Given the description of an element on the screen output the (x, y) to click on. 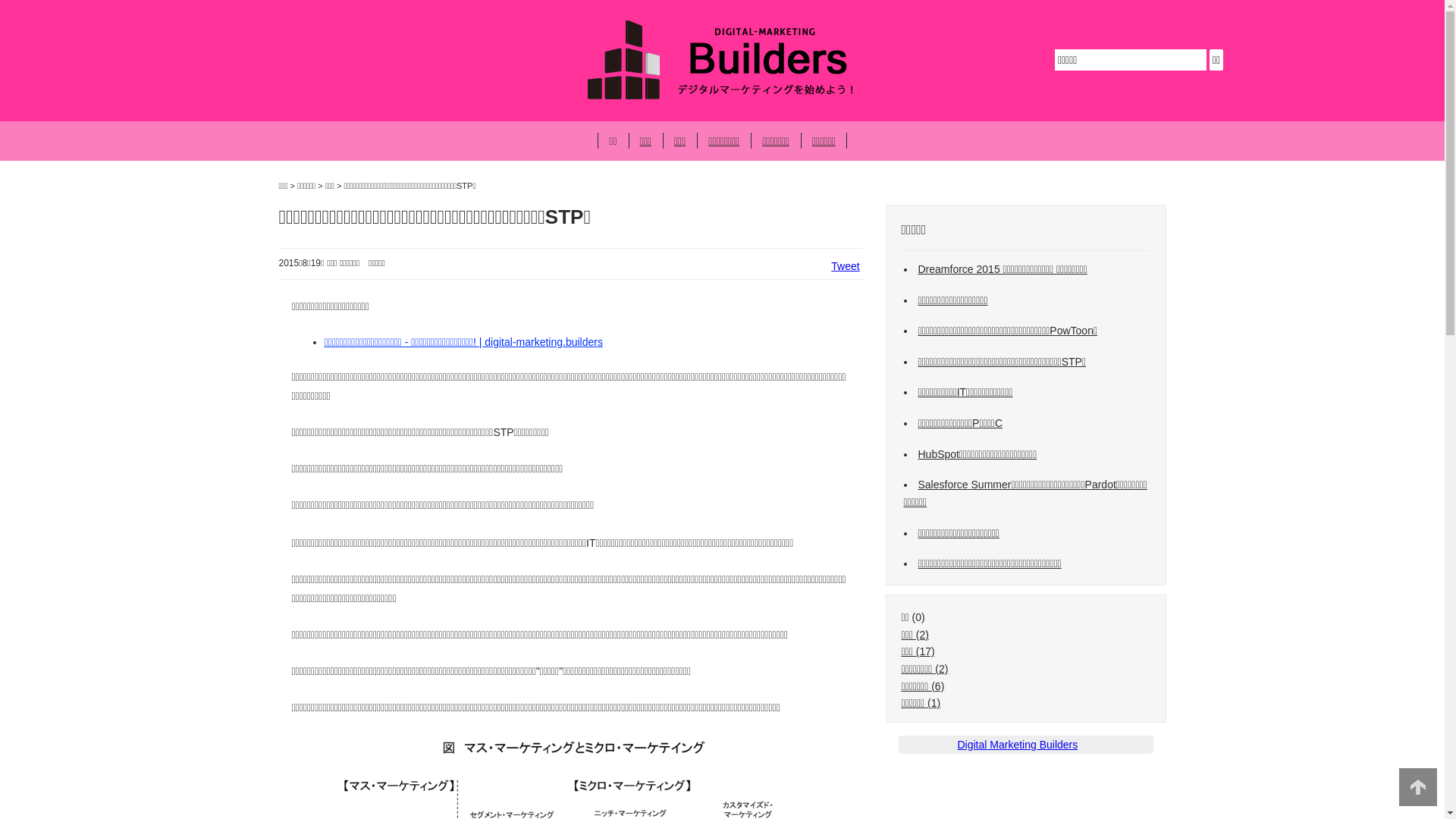
Tweet Element type: text (845, 266)
Digital Marketing Builders Element type: text (1017, 744)
